Given the description of an element on the screen output the (x, y) to click on. 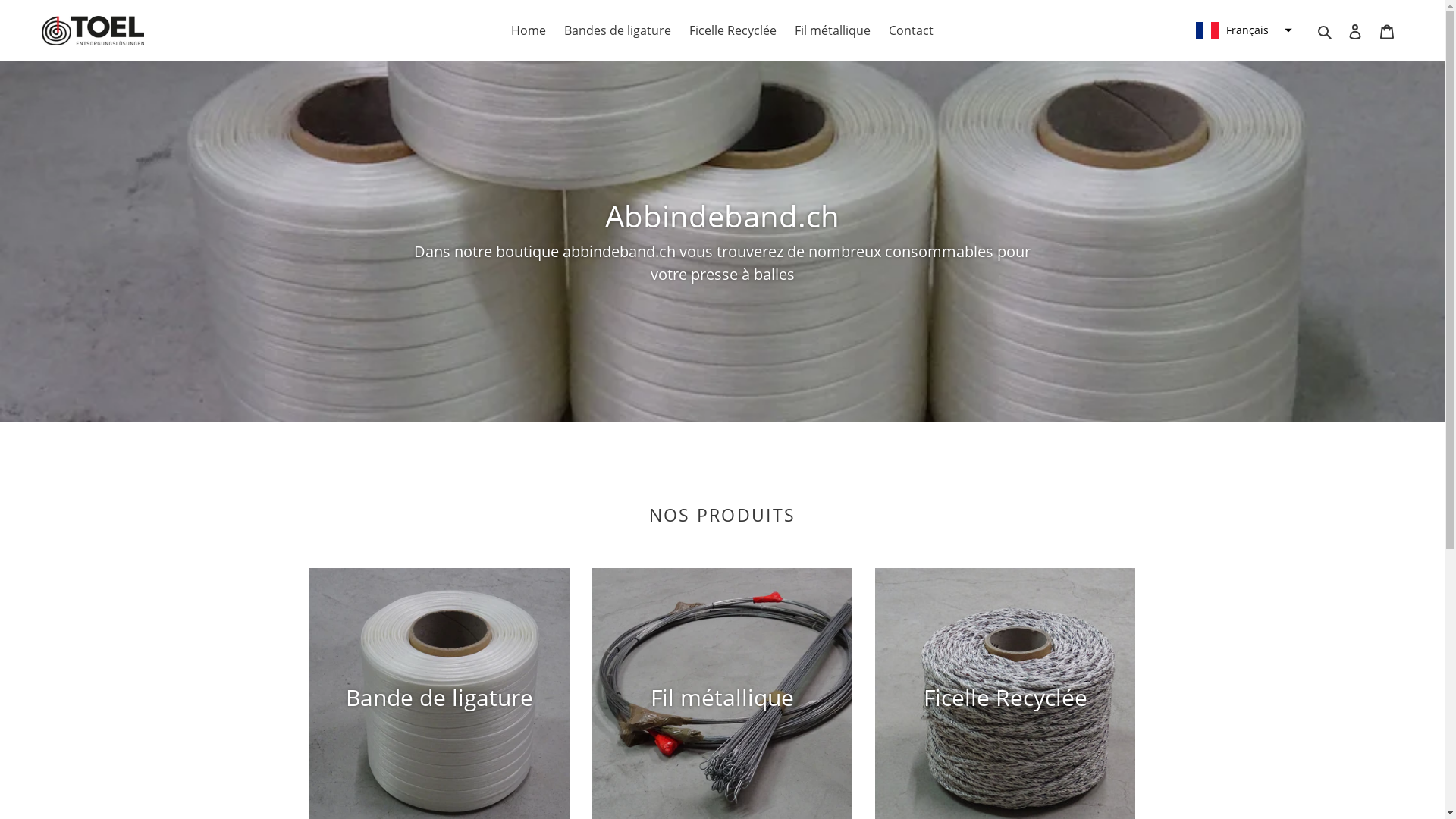
Bandes de ligature Element type: text (617, 29)
Se connecter Element type: text (1355, 30)
Home Element type: text (528, 29)
Rechercher Element type: text (1325, 30)
Contact Element type: text (911, 29)
Panier Element type: text (1386, 30)
